Given the description of an element on the screen output the (x, y) to click on. 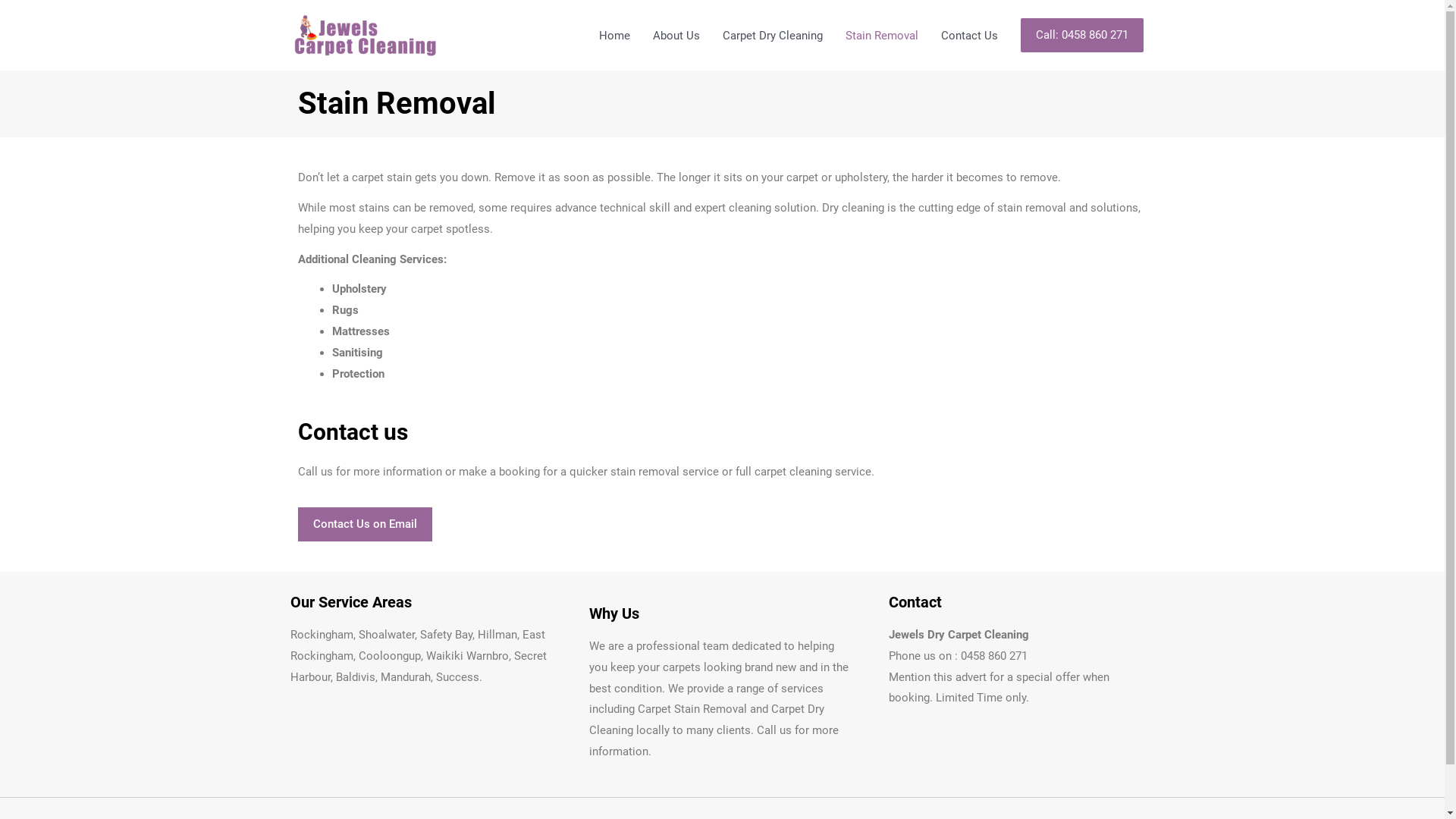
Call: 0458 860 271 Element type: text (1081, 35)
Contact Us on Email Element type: text (364, 524)
Carpet Dry Cleaning Element type: text (772, 35)
About Us Element type: text (676, 35)
Contact Us Element type: text (969, 35)
Home Element type: text (613, 35)
Stain Removal Element type: text (881, 35)
